Given the description of an element on the screen output the (x, y) to click on. 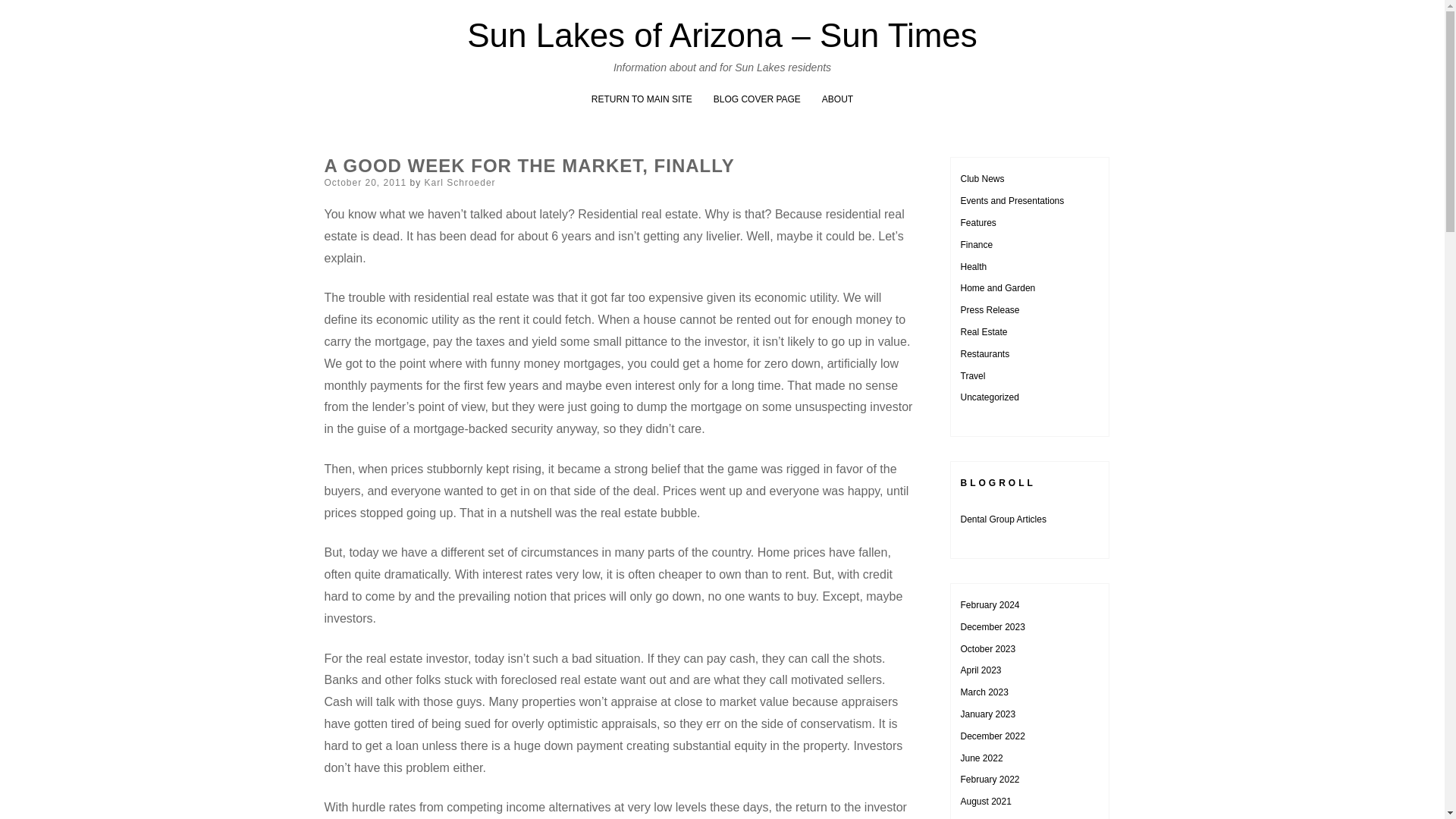
Uncategorized (988, 397)
December 2023 (992, 626)
Press Release (989, 309)
Restaurants (984, 353)
Events and Presentations (1011, 200)
January 2023 (986, 714)
Club News (981, 178)
Travel (972, 376)
Finance (975, 244)
ABOUT (837, 99)
